Given the description of an element on the screen output the (x, y) to click on. 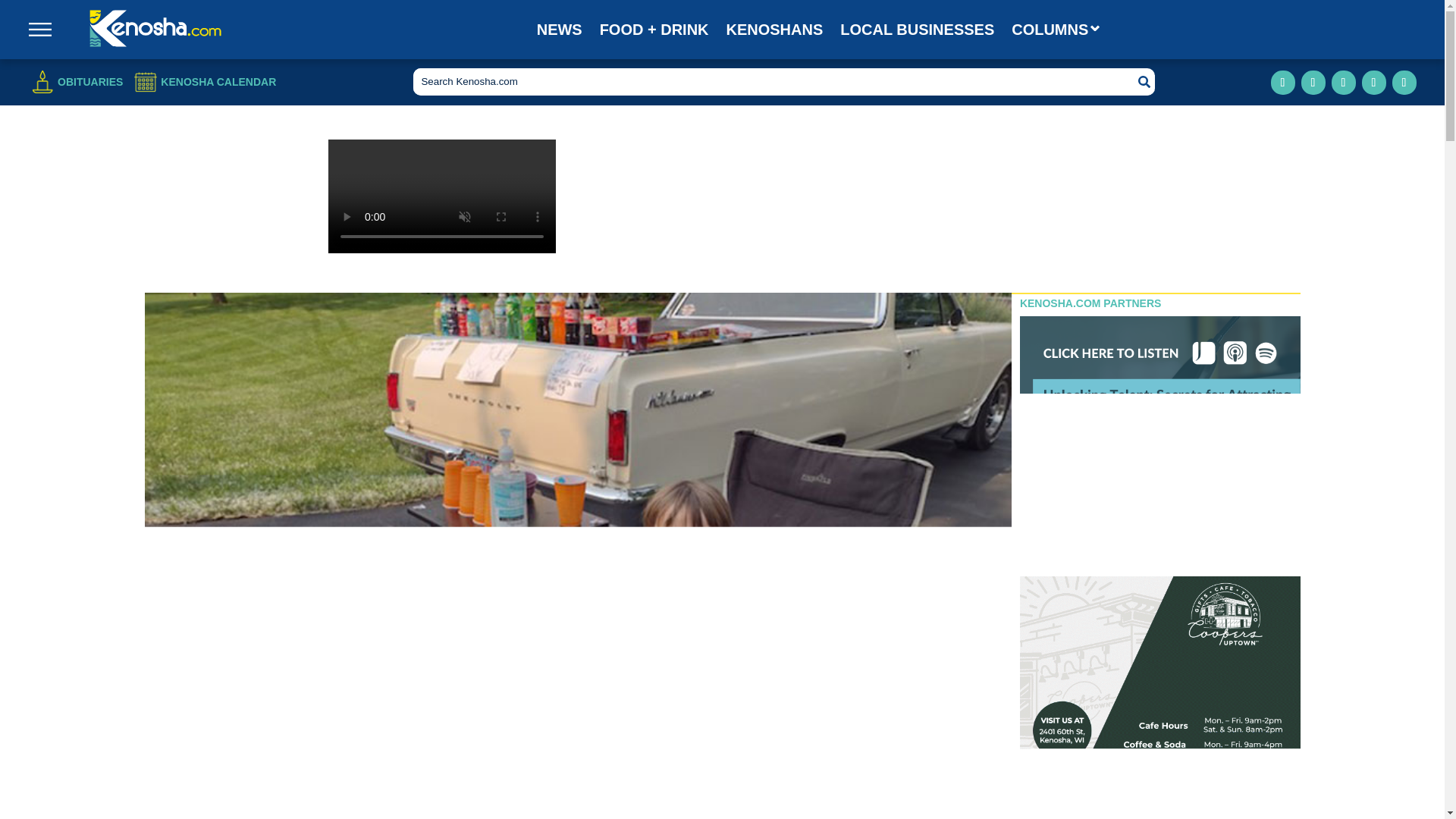
Follow on Spotify (1403, 82)
Follow on X (1373, 82)
Follow on Instagram (1312, 82)
Follow on Facebook (1283, 82)
Follow on LinkedIn (1343, 82)
